Given the description of an element on the screen output the (x, y) to click on. 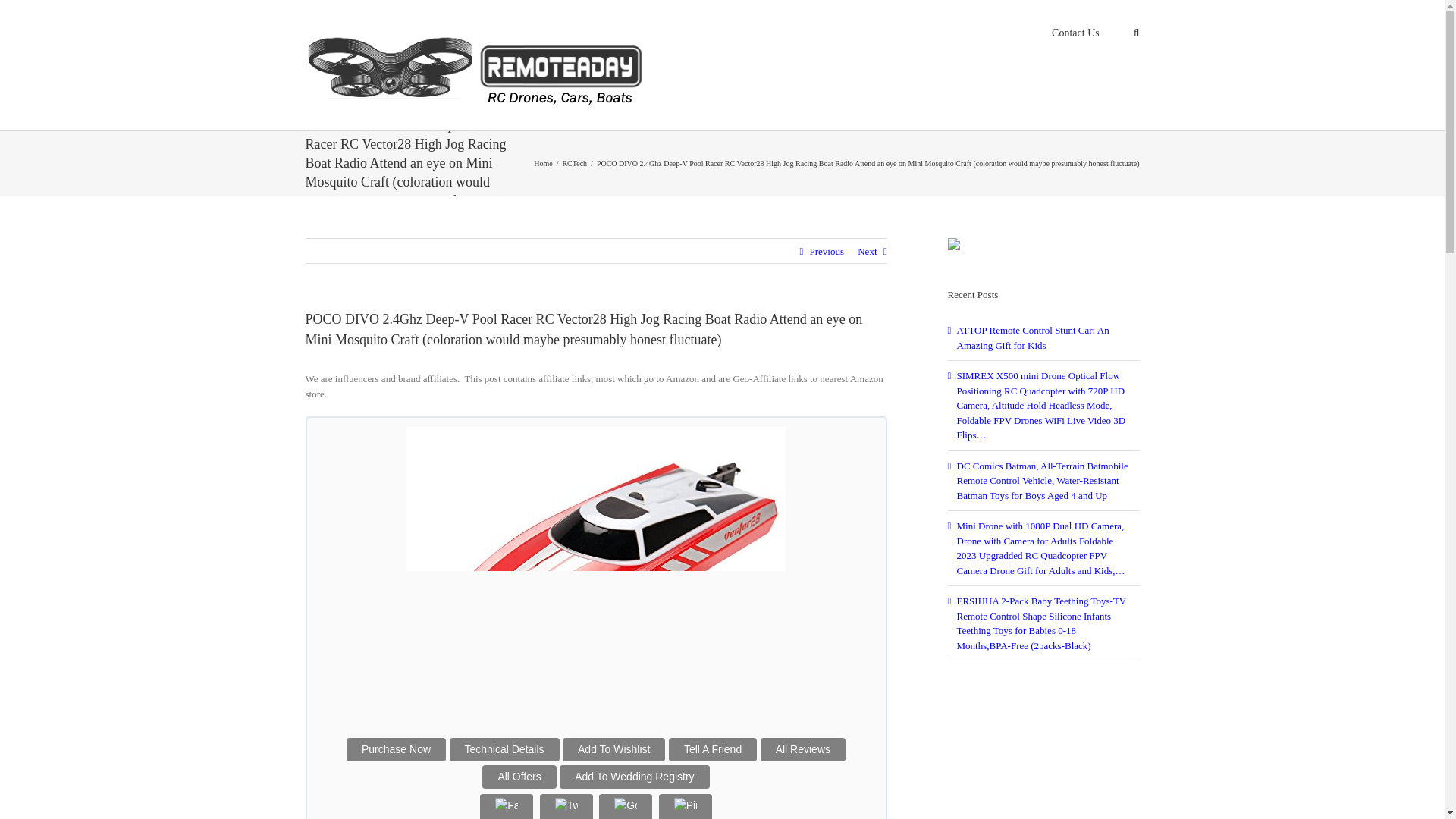
Technical Details (503, 749)
Home (542, 162)
Previous (826, 251)
Purchase Now (395, 749)
All Offers (518, 776)
All Reviews (802, 749)
Tell A Friend (712, 749)
RCTech (574, 162)
Add To Wedding Registry (634, 776)
Add To Wishlist (613, 749)
